Given the description of an element on the screen output the (x, y) to click on. 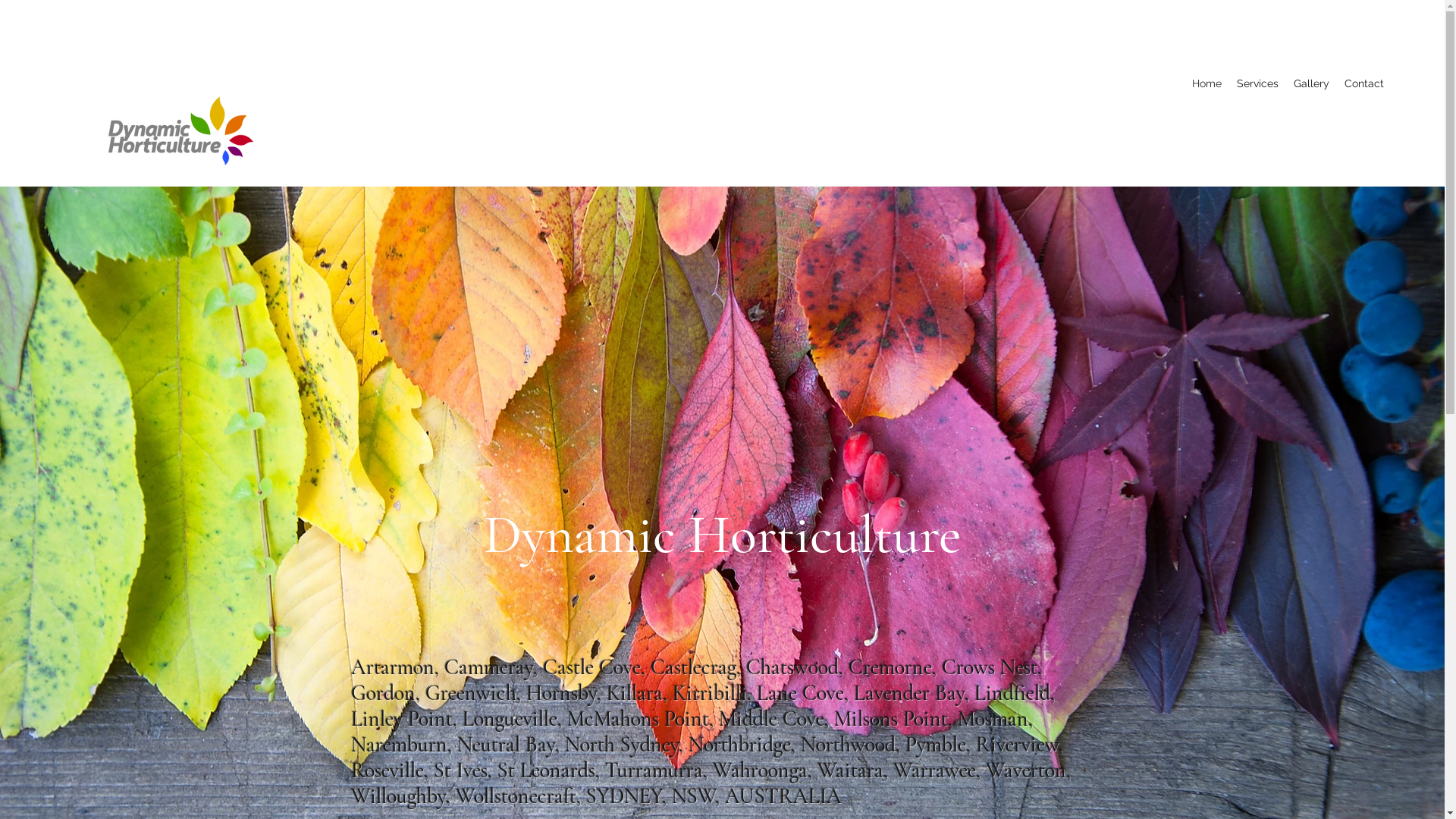
Gallery Element type: text (1311, 83)
Contact Element type: text (1363, 83)
Home Element type: text (1206, 83)
Services Element type: text (1257, 83)
